Given the description of an element on the screen output the (x, y) to click on. 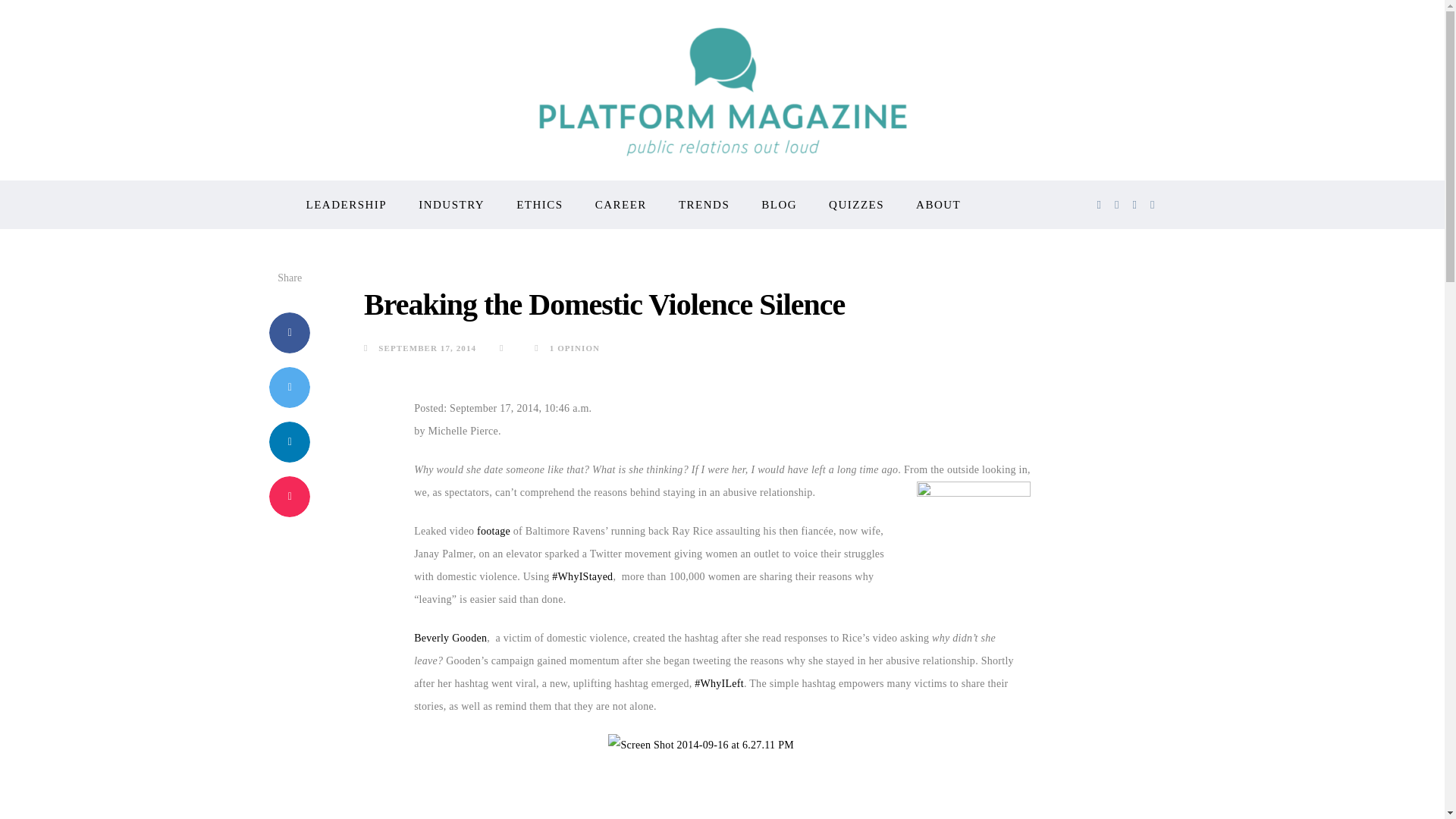
TRENDS (703, 204)
Send this article to a friend! (289, 495)
ABOUT (937, 204)
Beverly Gooden (449, 637)
1 OPINION (566, 347)
CAREER (620, 204)
SEPTEMBER 17, 2014 (420, 347)
LEADERSHIP (346, 204)
INDUSTRY (451, 204)
QUIZZES (855, 204)
